Given the description of an element on the screen output the (x, y) to click on. 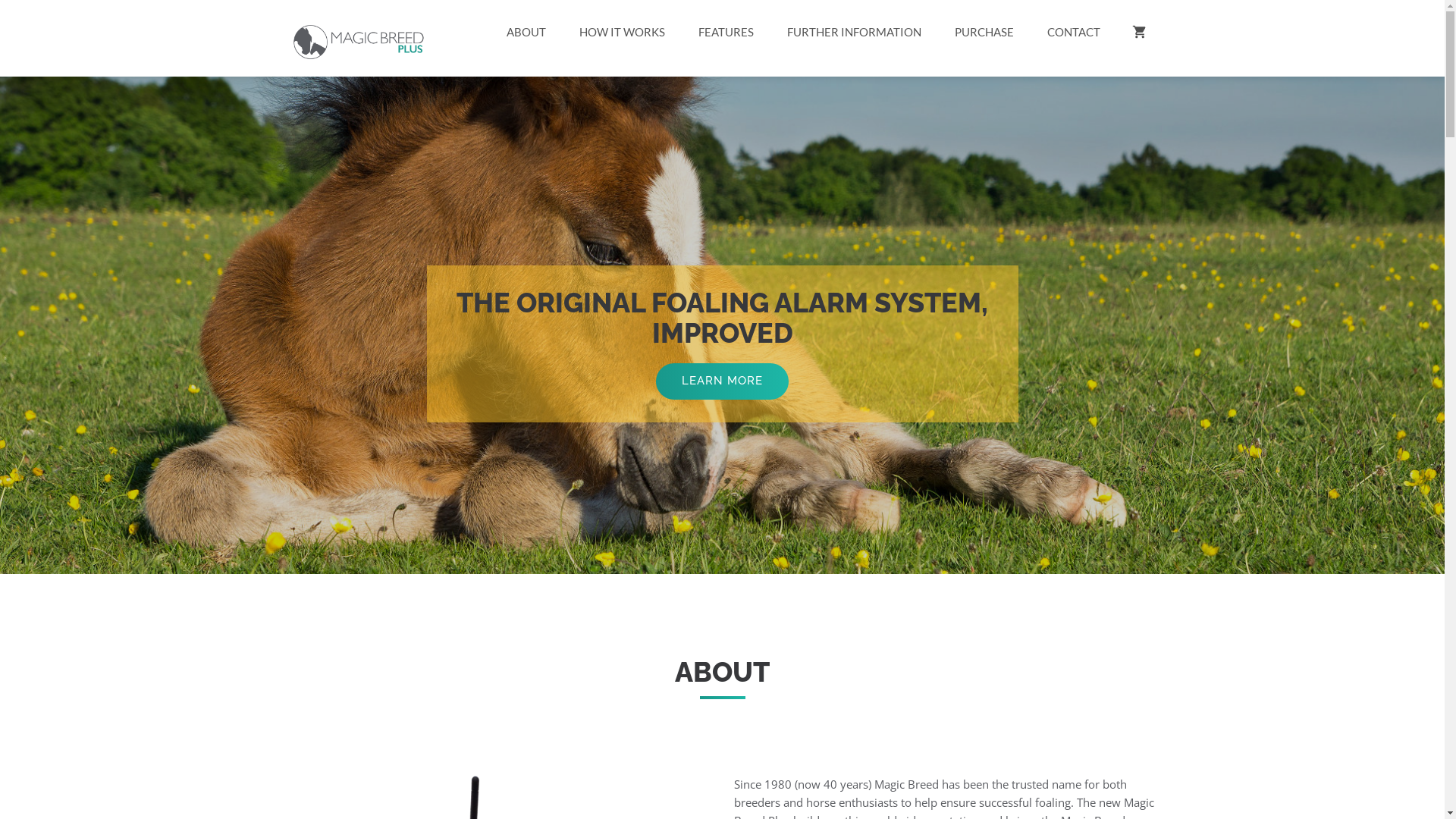
ABOUT Element type: text (526, 31)
CONTACT Element type: text (1072, 31)
PURCHASE Element type: text (983, 31)
FURTHER INFORMATION Element type: text (853, 31)
HOW IT WORKS Element type: text (621, 31)
LEARN MORE Element type: text (721, 381)
FEATURES Element type: text (725, 31)
